Given the description of an element on the screen output the (x, y) to click on. 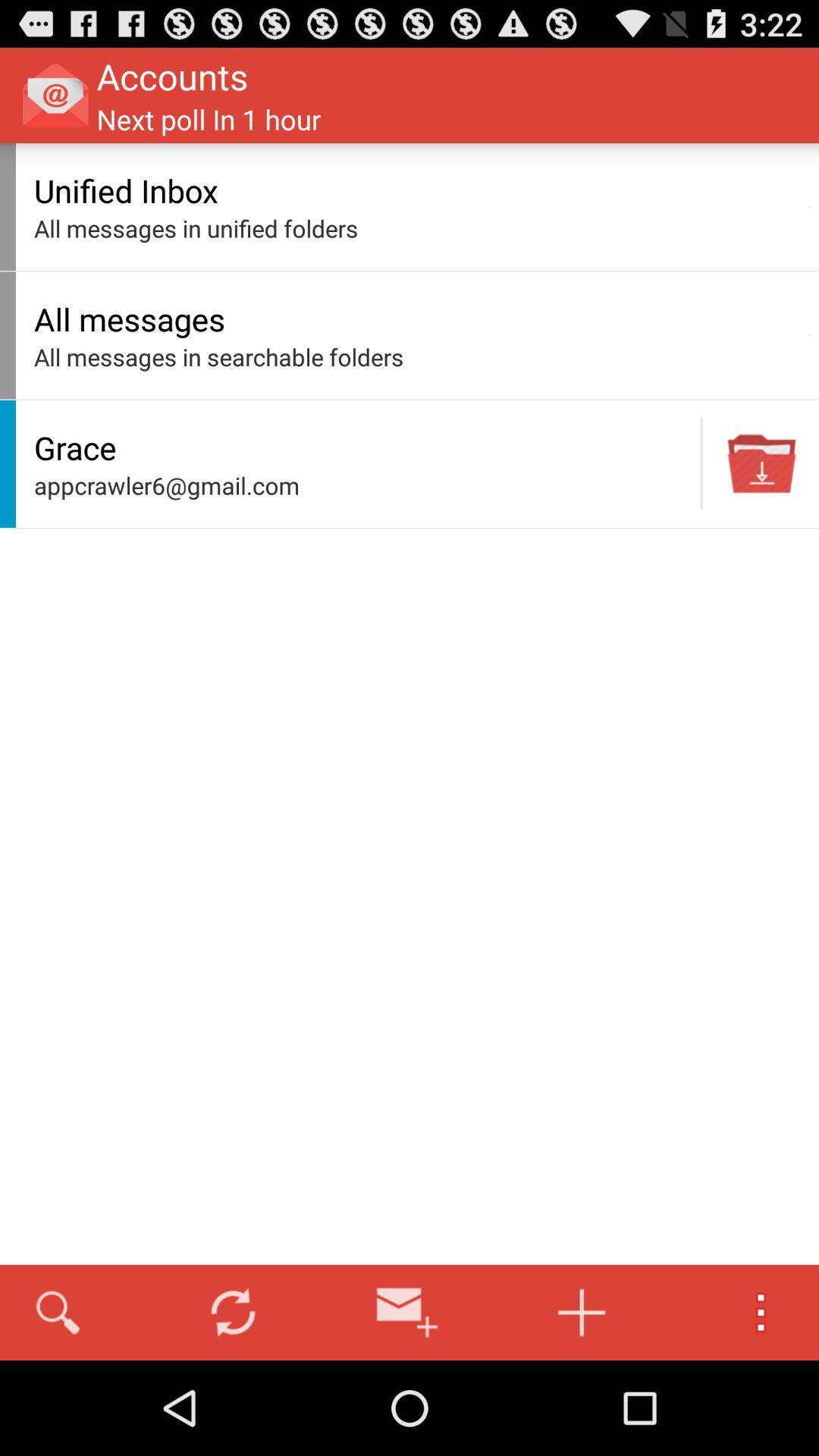
click the icon below the appcrawler6@gmail.com item (232, 1312)
